Given the description of an element on the screen output the (x, y) to click on. 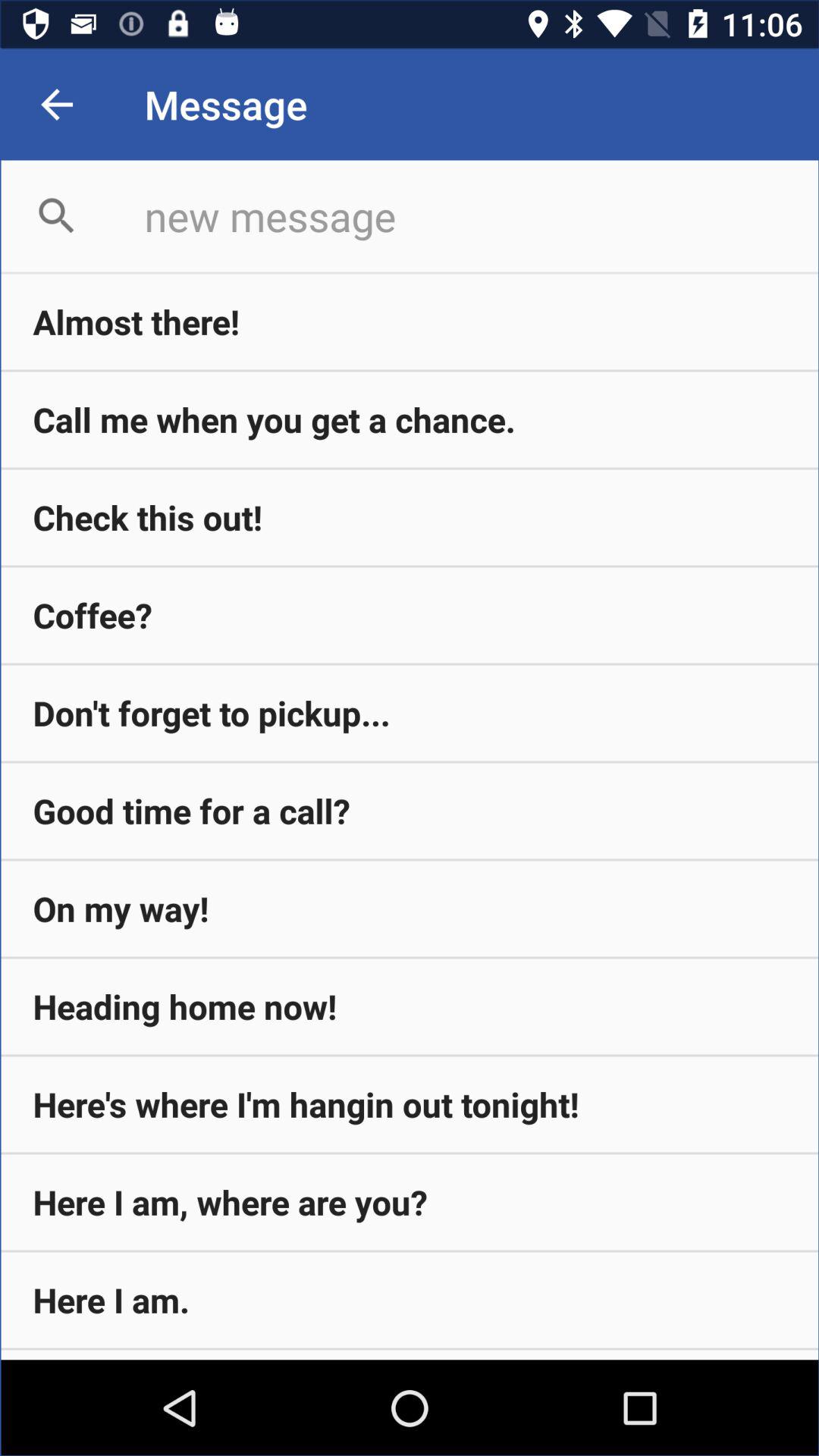
launch the icon next to message item (56, 104)
